Given the description of an element on the screen output the (x, y) to click on. 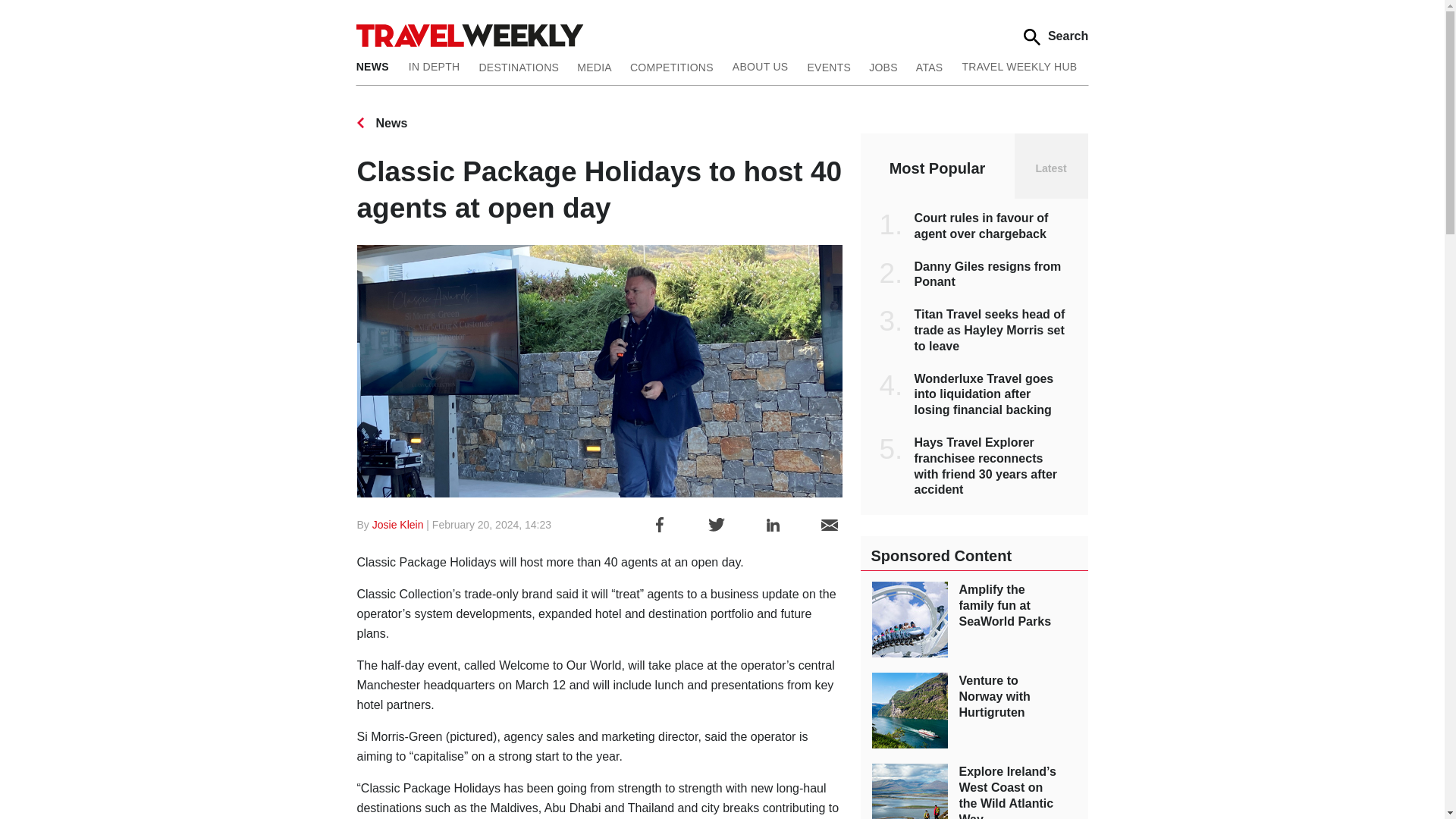
Search (1055, 36)
Share on LinkedIn (773, 524)
Share on Facebook (659, 524)
Share on Twitter (716, 524)
NEWS (377, 65)
February 20, 2024, 14:23 (491, 524)
